Given the description of an element on the screen output the (x, y) to click on. 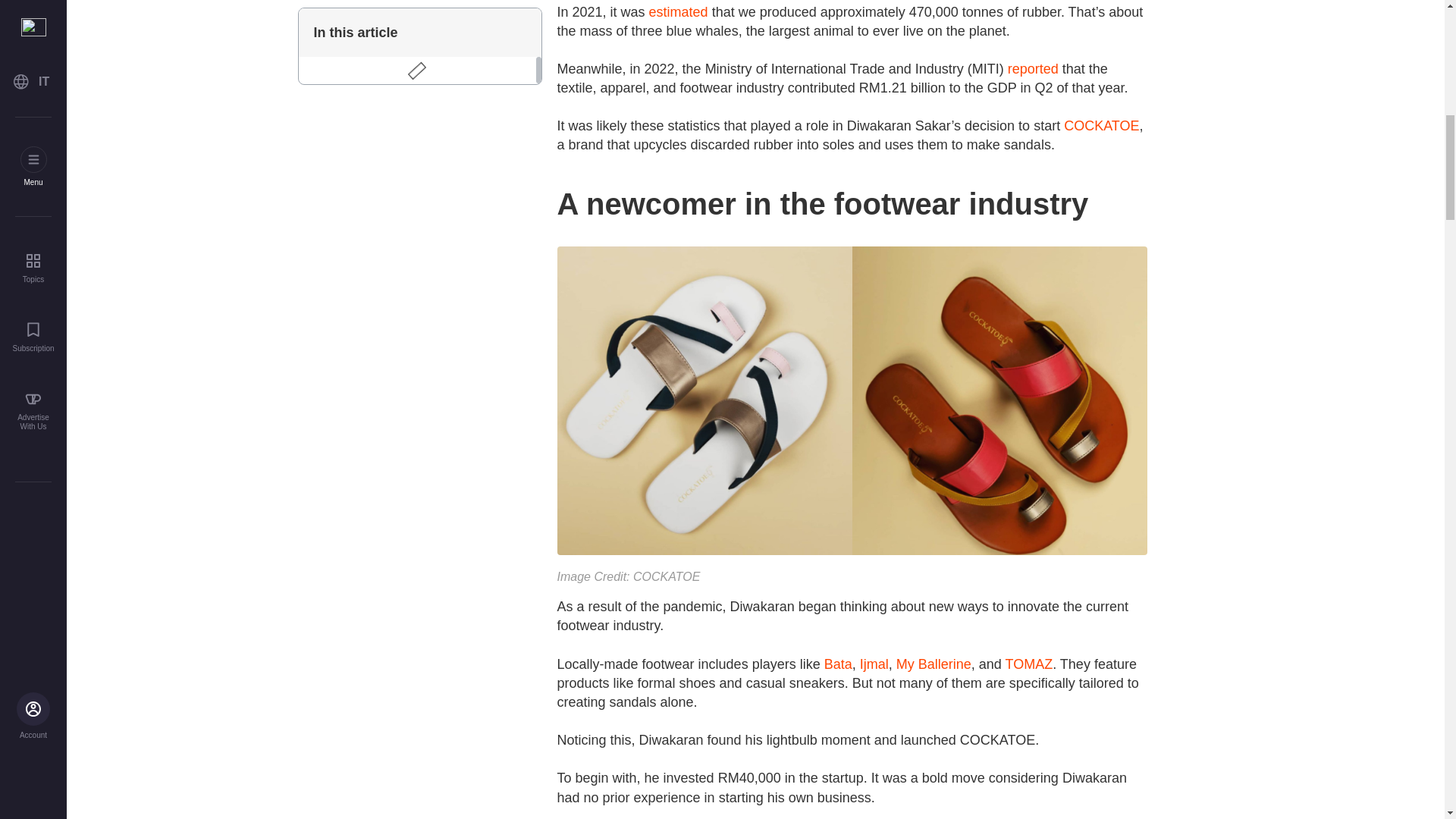
My Ballerine (933, 663)
TOMAZ (1029, 663)
COCKATOE (1101, 125)
Ijmal (874, 663)
estimated (678, 11)
reported (1032, 68)
Bata (837, 663)
